Given the description of an element on the screen output the (x, y) to click on. 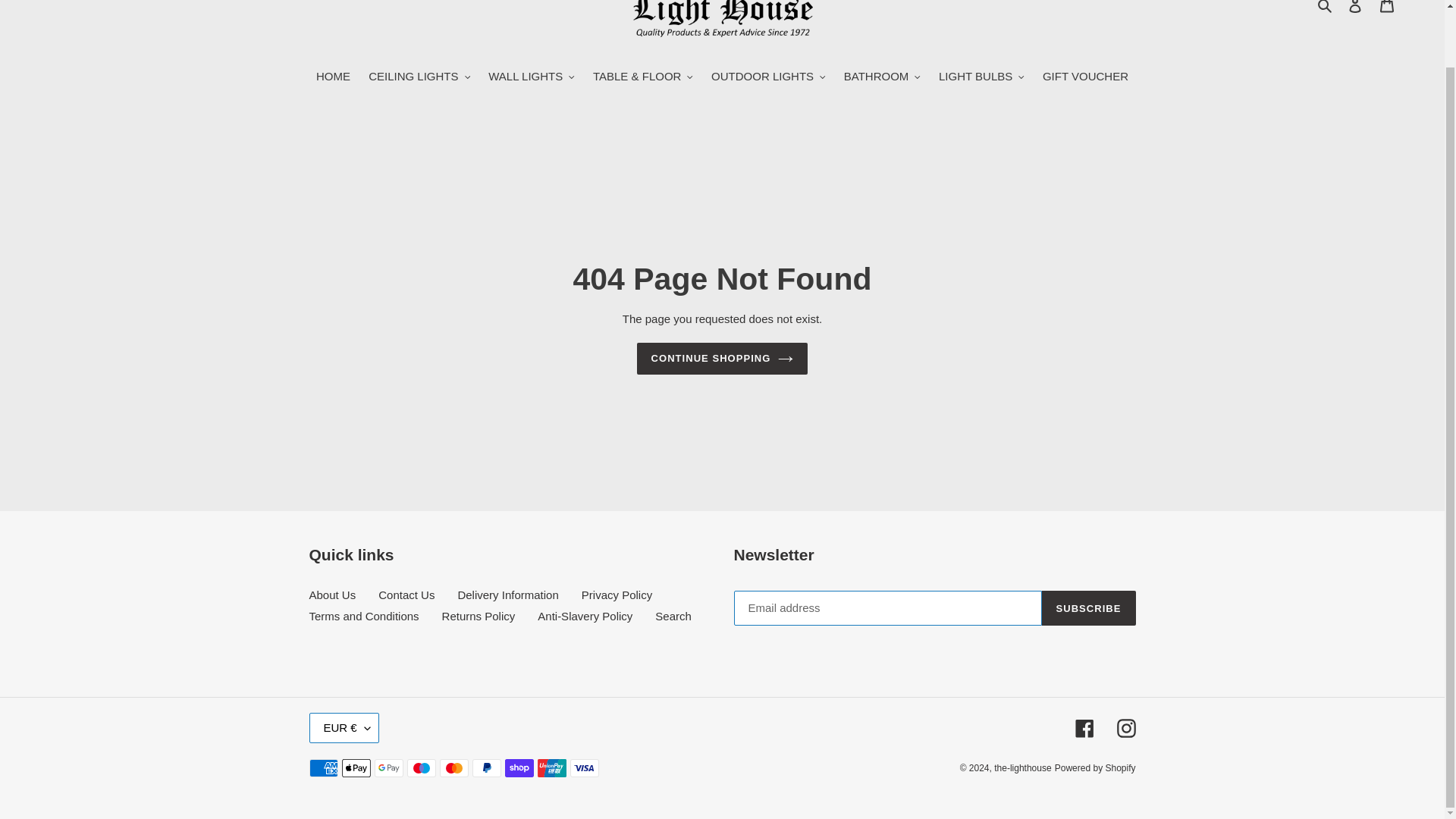
Search (1326, 7)
Cart (1387, 10)
Log in (1355, 10)
